Given the description of an element on the screen output the (x, y) to click on. 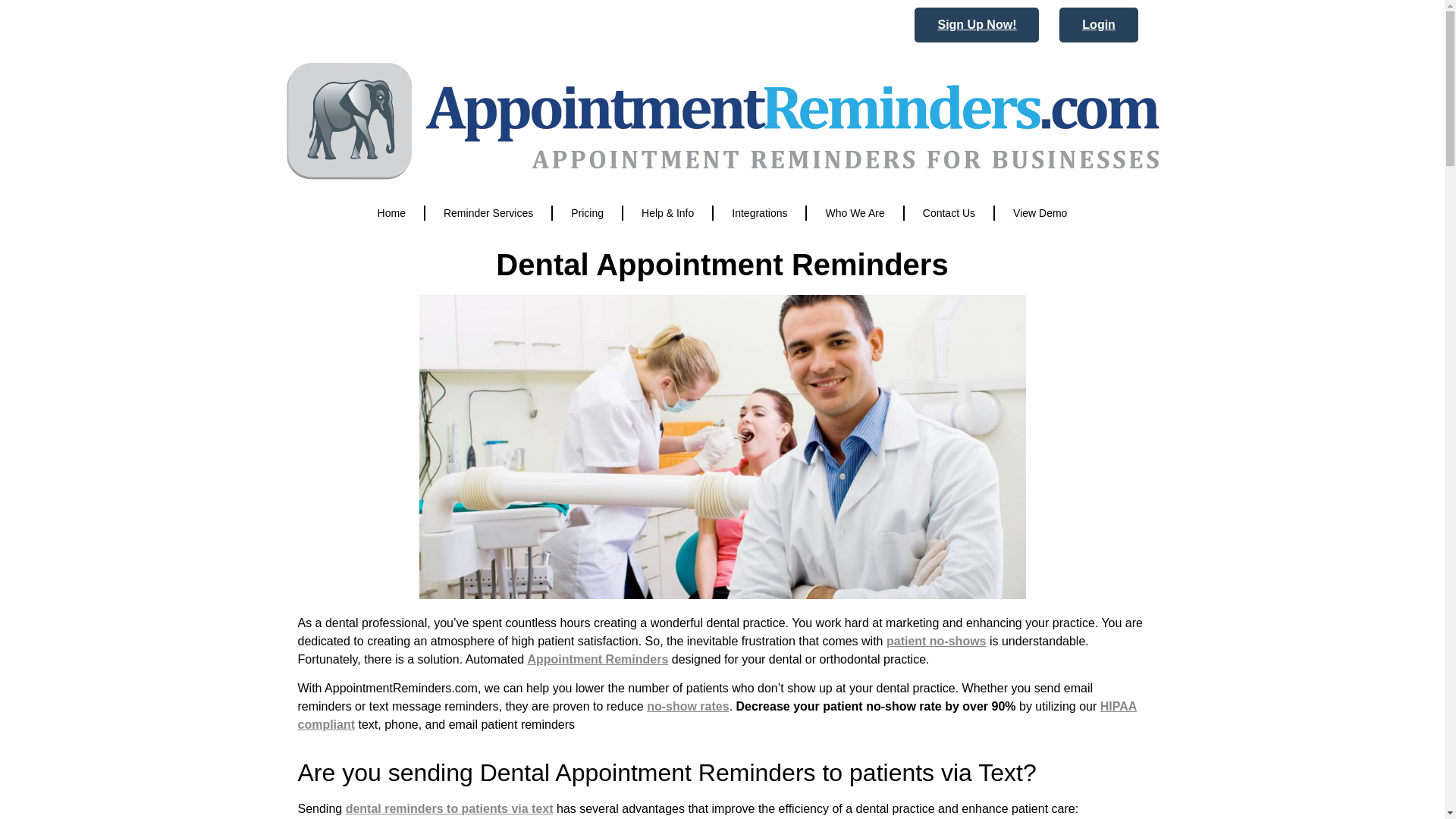
Pricing (587, 212)
Home (391, 212)
Who We Are (854, 212)
AppointmentReminders.com Banner (721, 120)
View Demo (1039, 212)
Integrations (759, 212)
Sign Up Now! (976, 24)
Login (1098, 24)
Contact Us (948, 212)
Reminder Services (488, 212)
